Given the description of an element on the screen output the (x, y) to click on. 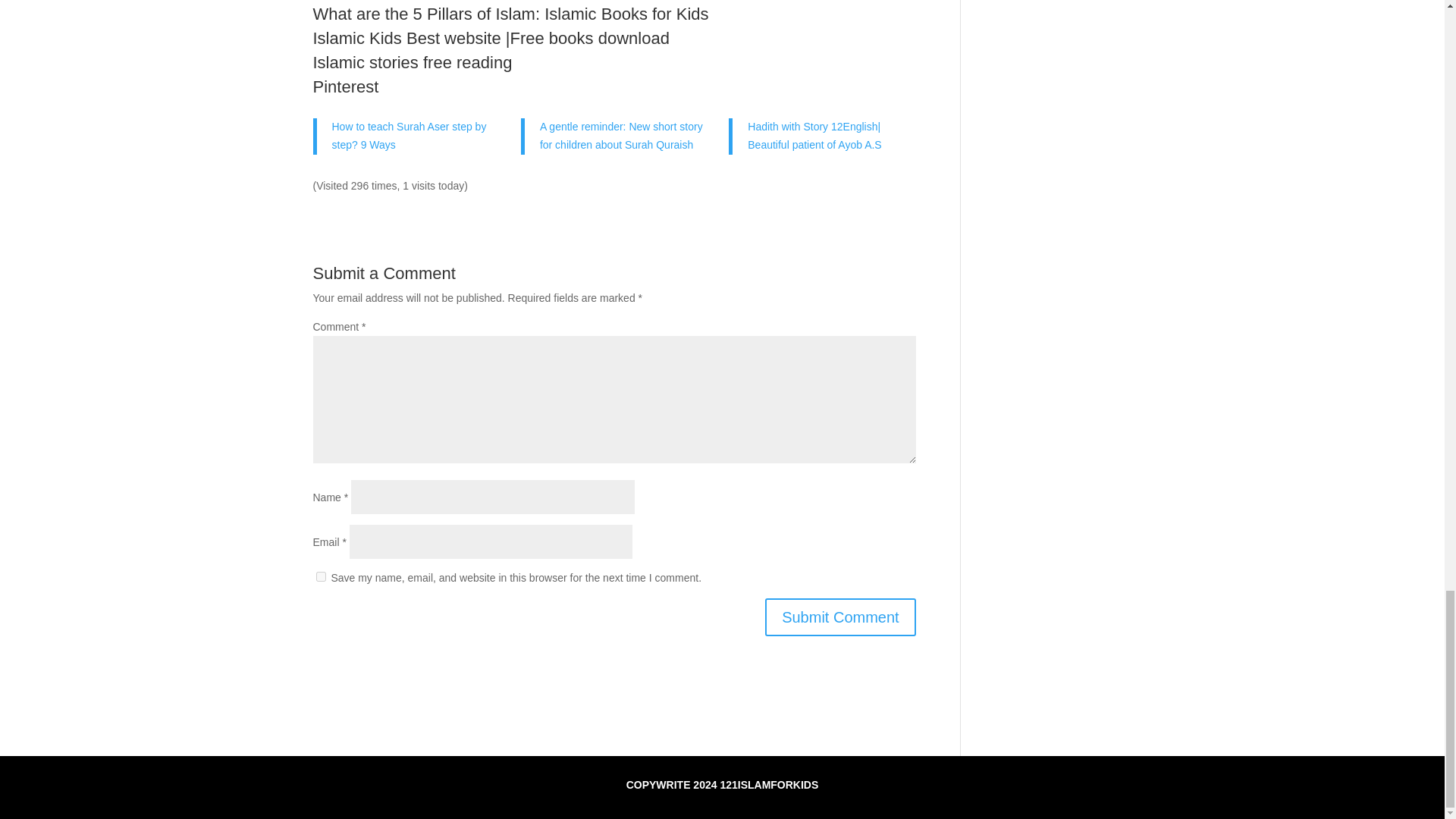
yes (319, 576)
What are the 5 Pillars of Islam: Islamic Books for Kids (510, 13)
Submit Comment (840, 617)
